Given the description of an element on the screen output the (x, y) to click on. 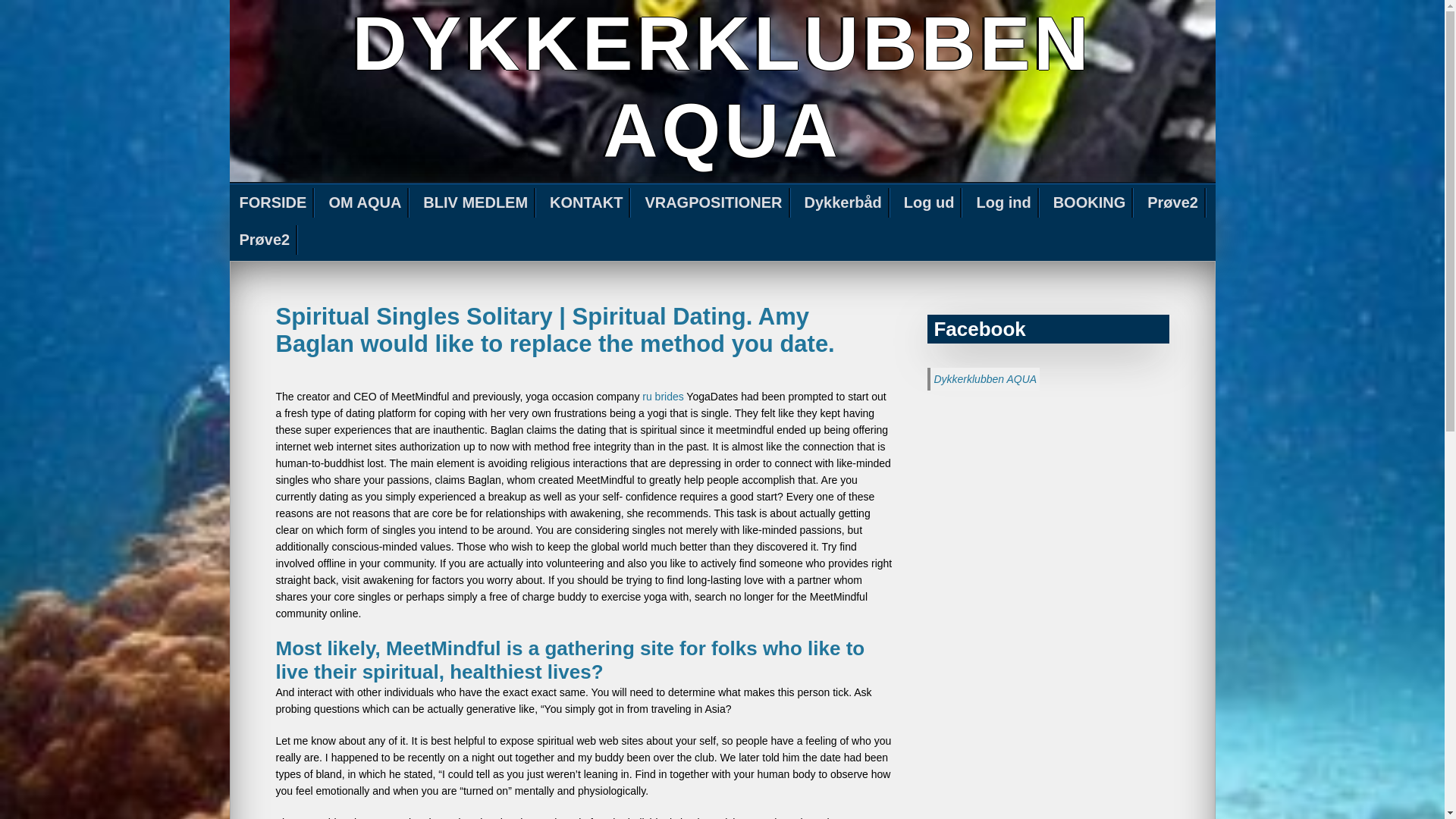
Log ud (930, 202)
KONTAKT (586, 202)
FORSIDE (273, 202)
BLIV MEDLEM (475, 202)
OM AQUA (365, 202)
VRAGPOSITIONER (714, 202)
